Given the description of an element on the screen output the (x, y) to click on. 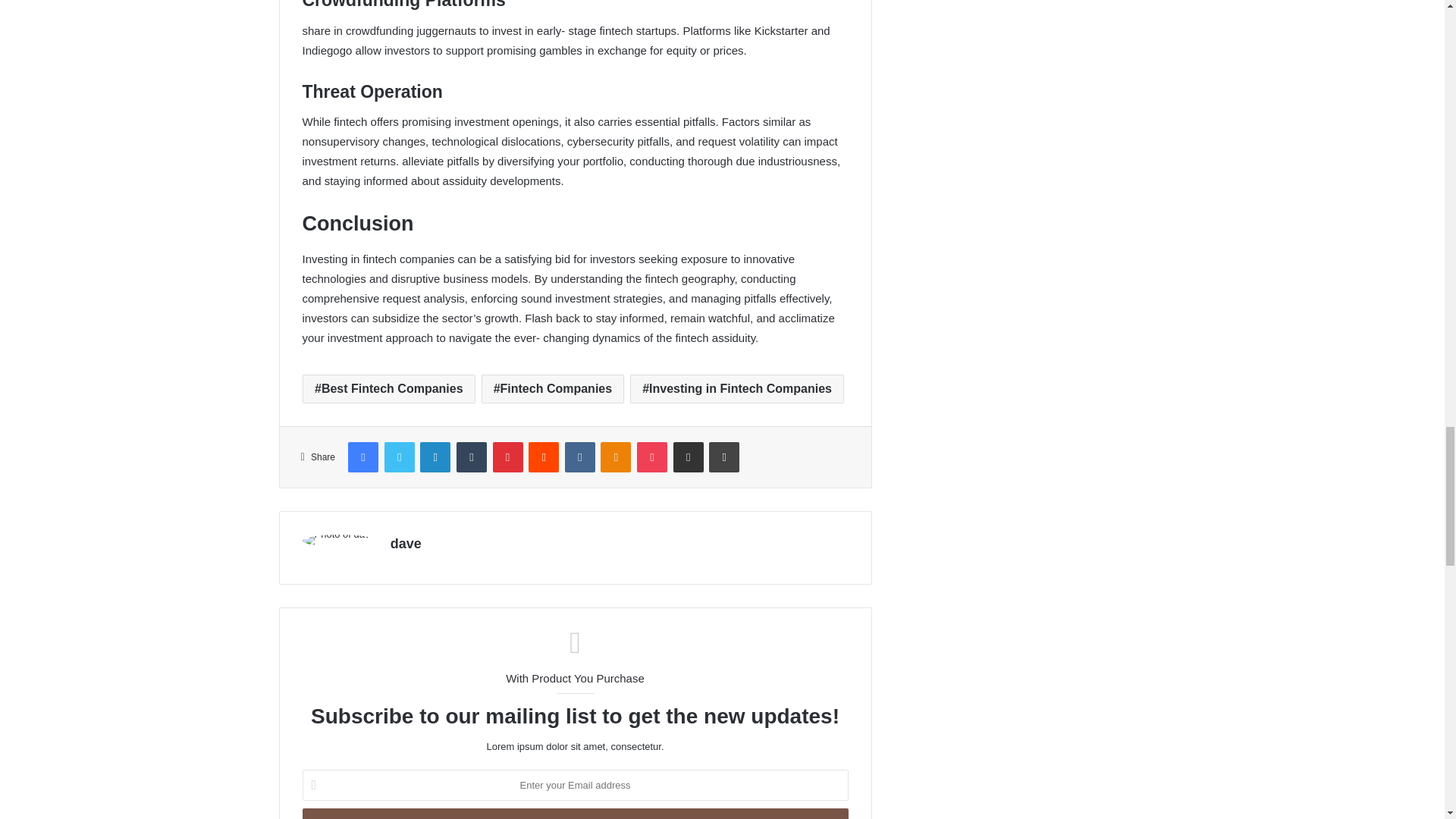
Subscribe (574, 813)
